Given the description of an element on the screen output the (x, y) to click on. 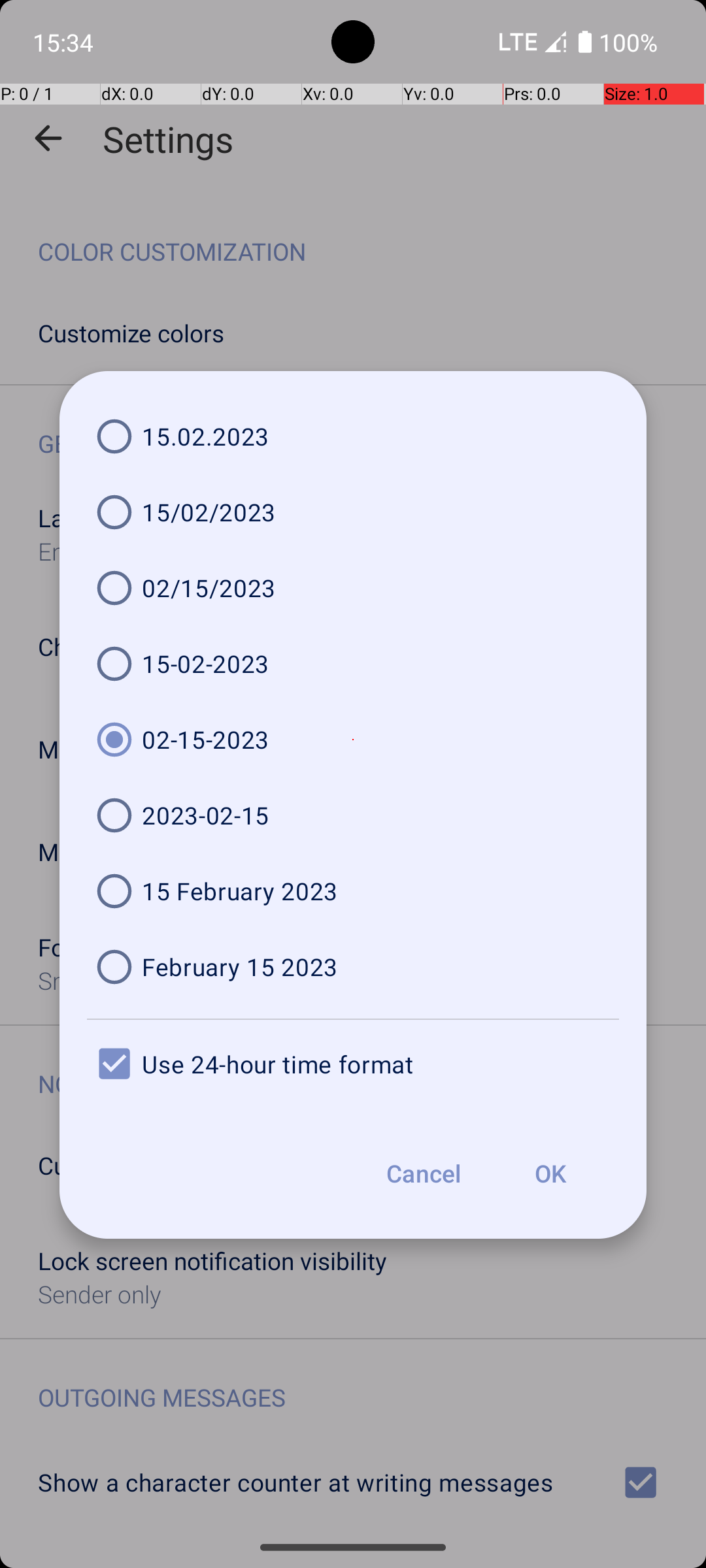
15.02.2023 Element type: android.widget.RadioButton (352, 436)
15/02/2023 Element type: android.widget.RadioButton (352, 512)
02/15/2023 Element type: android.widget.RadioButton (352, 587)
15-02-2023 Element type: android.widget.RadioButton (352, 663)
02-15-2023 Element type: android.widget.RadioButton (352, 739)
2023-02-15 Element type: android.widget.RadioButton (352, 815)
15 February 2023 Element type: android.widget.RadioButton (352, 891)
February 15 2023 Element type: android.widget.RadioButton (352, 966)
